Given the description of an element on the screen output the (x, y) to click on. 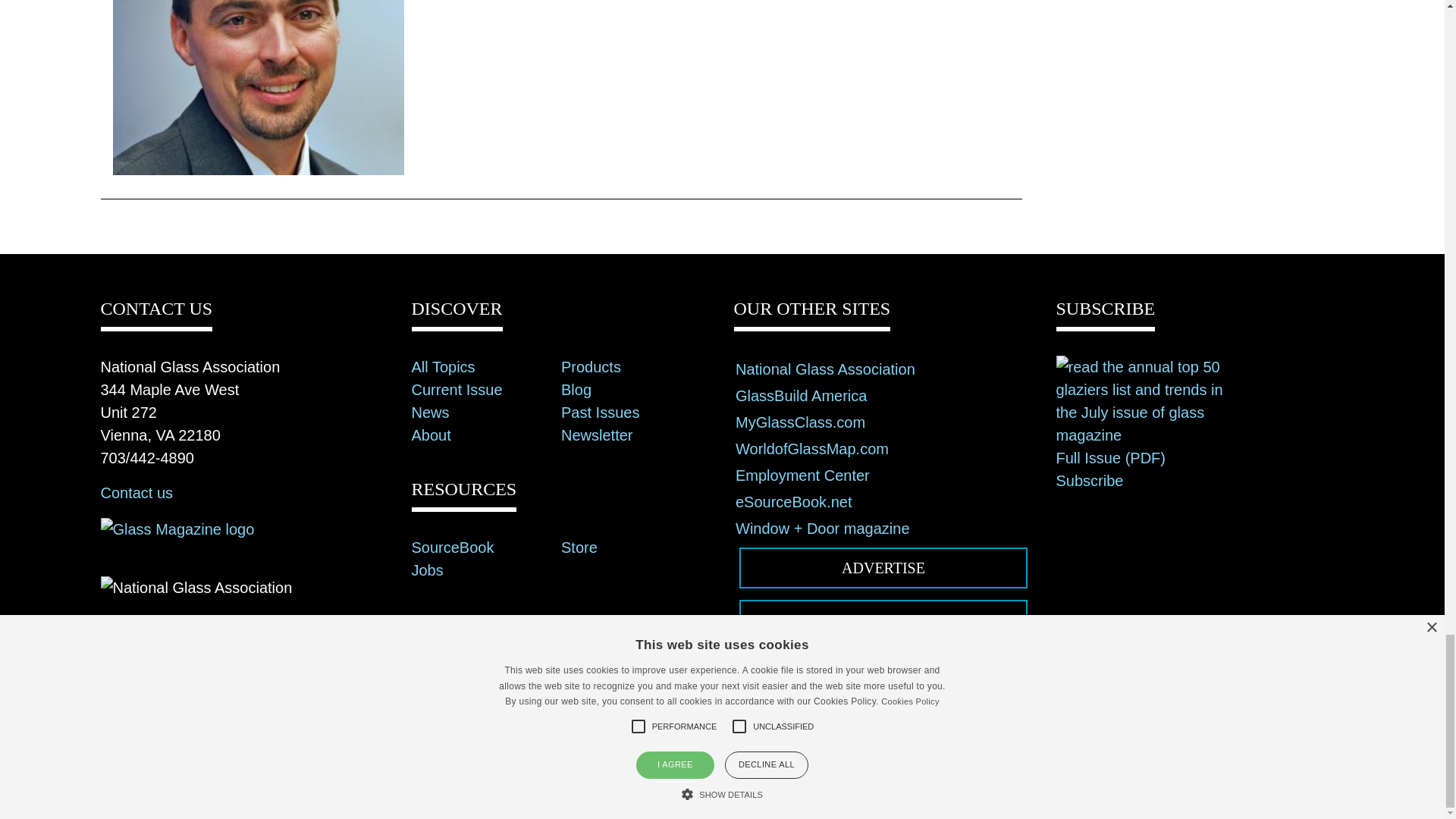
Contribute Content (883, 619)
National Glass Association (825, 369)
GlassBuild America (800, 395)
Employment Center (802, 475)
Contact us (136, 492)
Advertise (883, 567)
MyGlassClass.com (799, 422)
eSourceBook.net (793, 501)
WorldofGlassMap.com (811, 448)
